Given the description of an element on the screen output the (x, y) to click on. 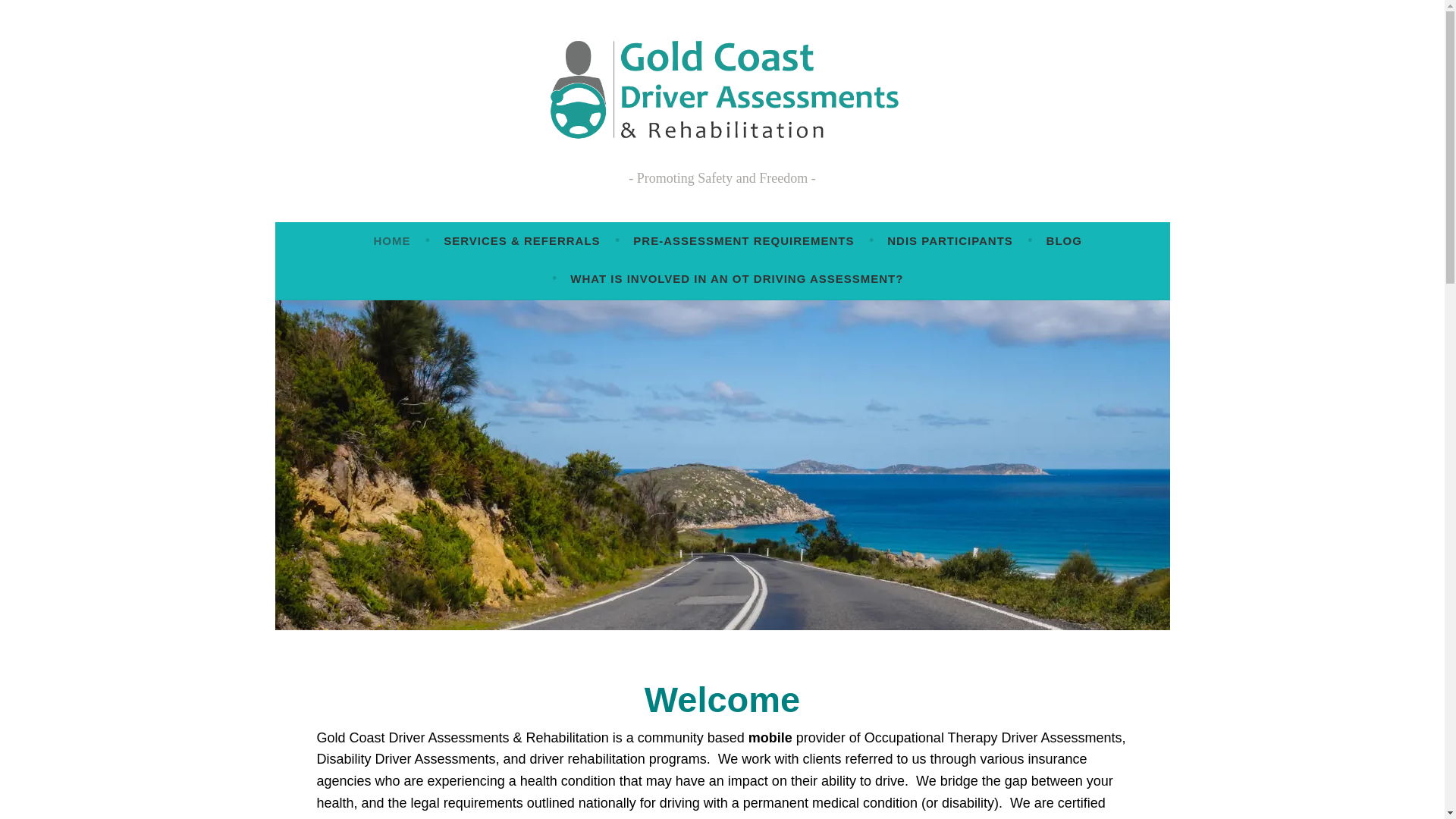
NDIS PARTICIPANTS Element type: text (950, 240)
HOME Element type: text (391, 240)
PRE-ASSESSMENT REQUIREMENTS Element type: text (743, 240)
BLOG Element type: text (1064, 240)
SERVICES & REFERRALS Element type: text (521, 240)
WHAT IS INVOLVED IN AN OT DRIVING ASSESSMENT? Element type: text (736, 278)
